Given the description of an element on the screen output the (x, y) to click on. 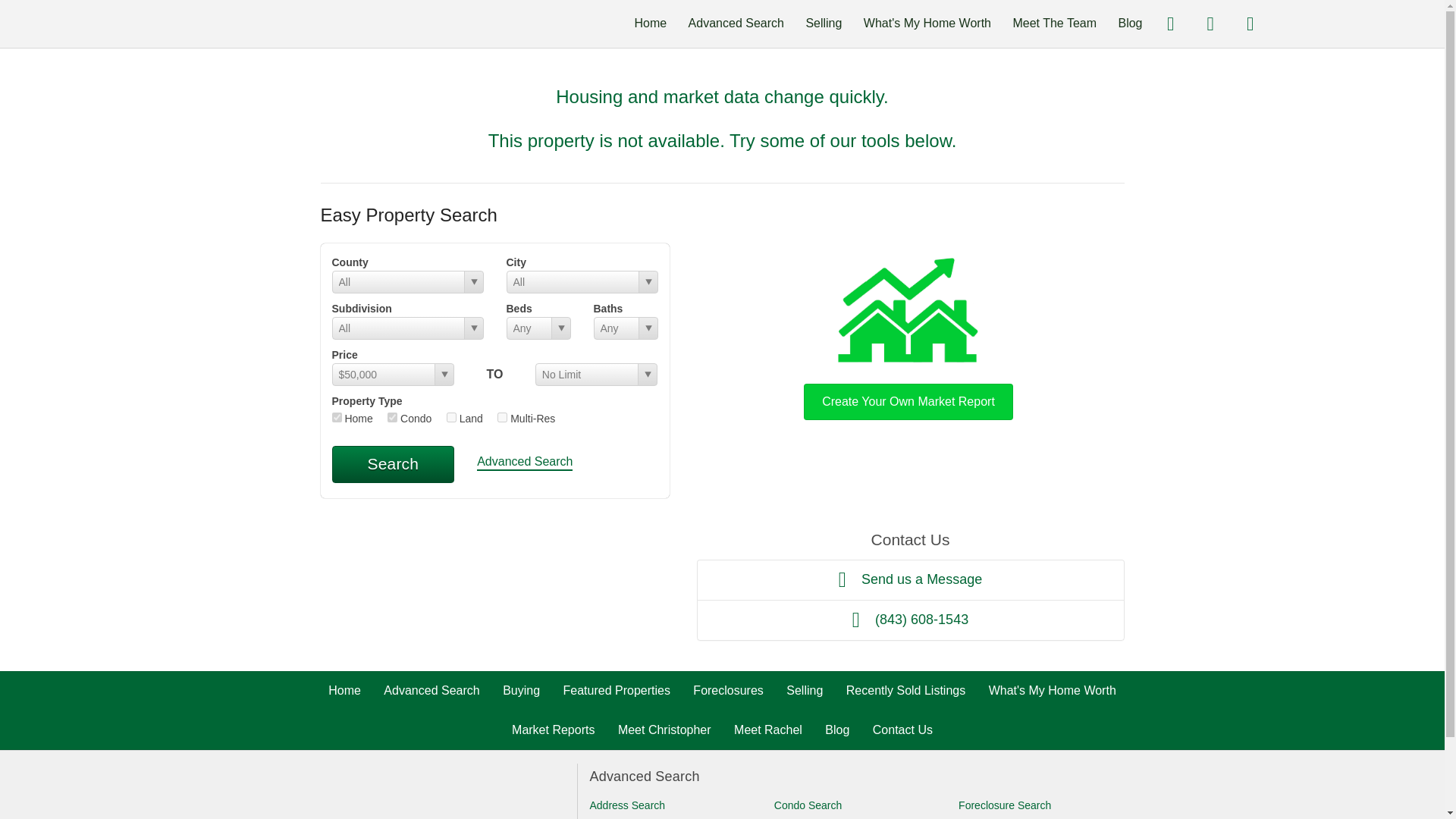
lnd (451, 417)
Search (392, 463)
res (336, 417)
Meet Rachel (767, 729)
Contact Us (902, 729)
What's My Home Worth (927, 22)
Market Reports (553, 729)
Meet Christopher (664, 729)
Meet The Team (1053, 22)
Recently Sold Listings (905, 689)
con (392, 417)
Advanced Search (736, 22)
Home (649, 22)
Selling (804, 689)
Selling (823, 22)
